Given the description of an element on the screen output the (x, y) to click on. 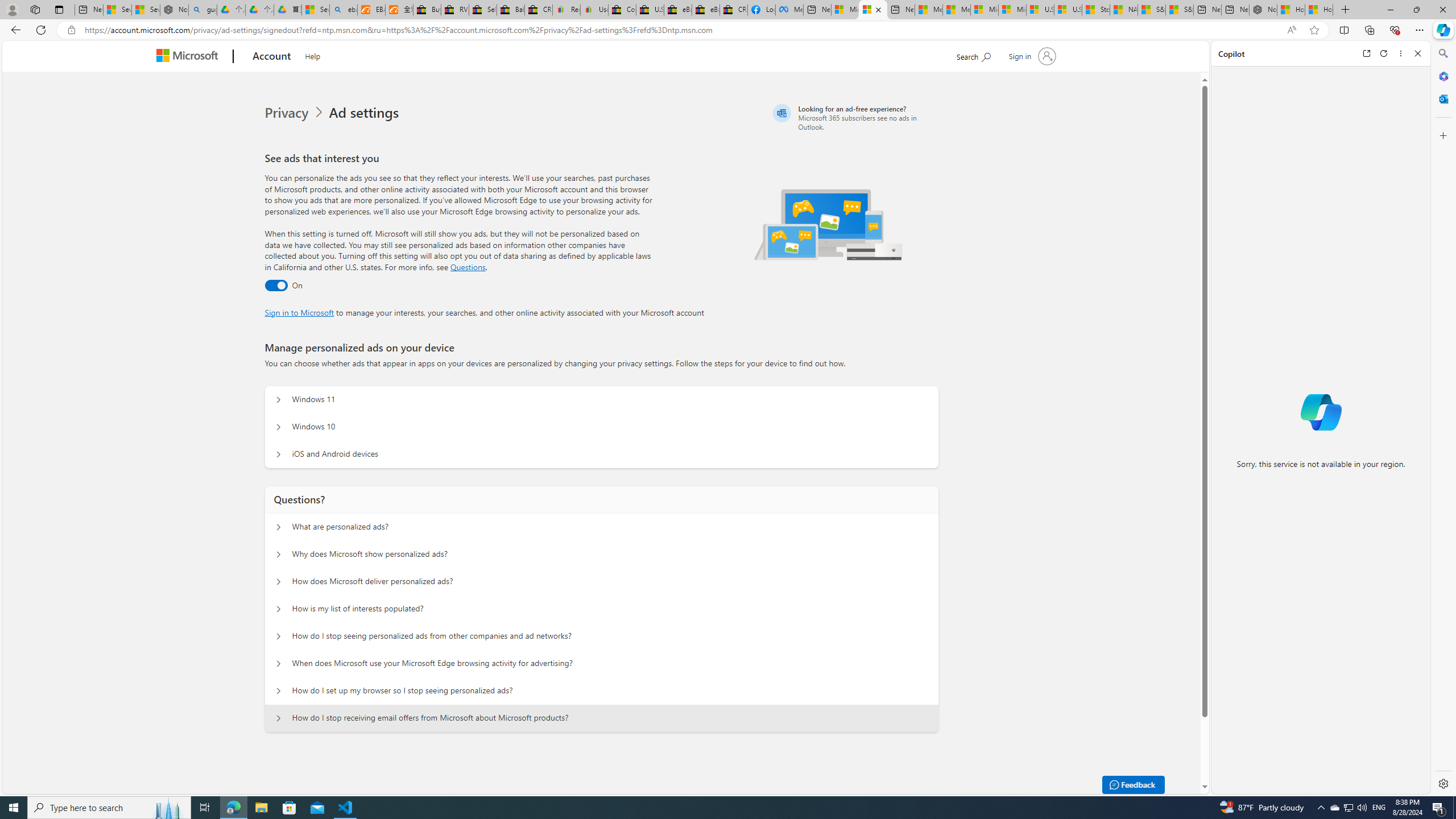
Buy Auto Parts & Accessories | eBay (426, 9)
New Tab (1346, 9)
Account (272, 56)
Looking for an ad-free experience? (854, 117)
Settings and more (Alt+F) (1419, 29)
Sell worldwide with eBay (483, 9)
Browser essentials (1394, 29)
